Given the description of an element on the screen output the (x, y) to click on. 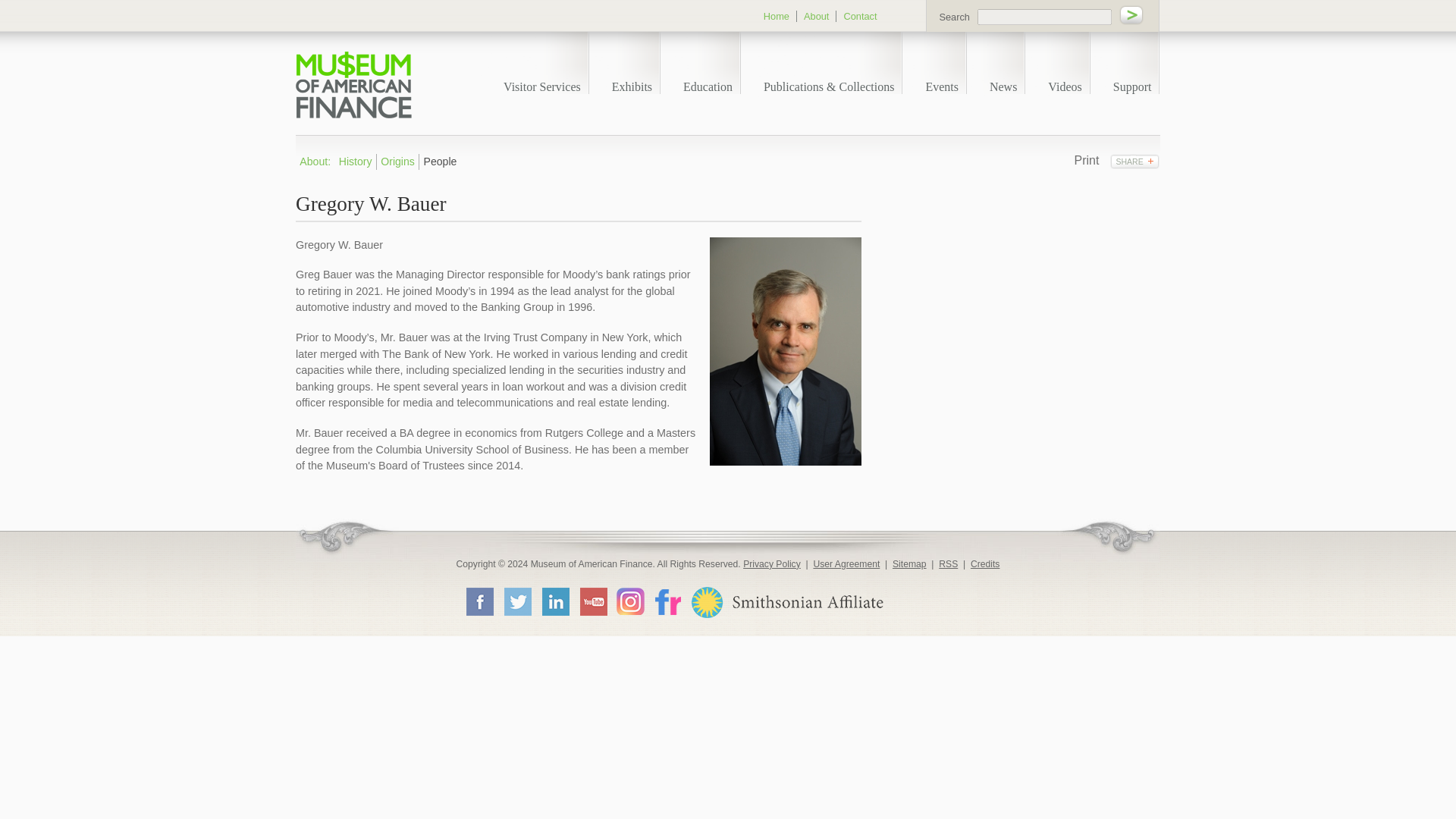
Museum of American Finance (353, 84)
print (1086, 160)
query (1044, 17)
Social Media (1133, 160)
